Given the description of an element on the screen output the (x, y) to click on. 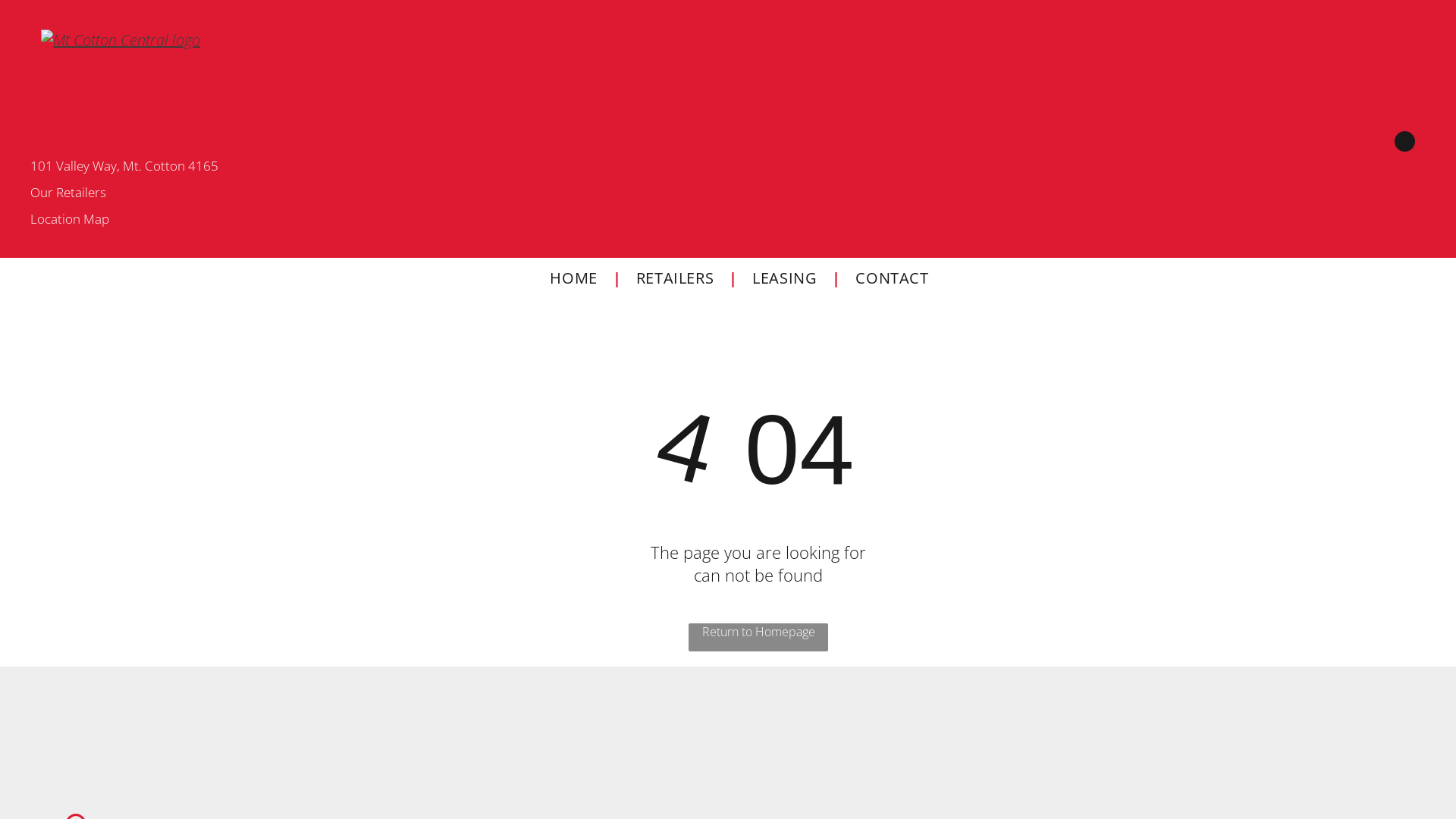
HOME Element type: text (572, 277)
101 Valley Way, Mt. Cotton 4165 Element type: text (124, 165)
Return to Homepage Element type: text (758, 637)
RETAILERS Element type: text (674, 277)
Our Retailers Element type: text (68, 191)
Location Map Element type: text (69, 218)
LEASING Element type: text (784, 277)
CONTACT Element type: text (891, 277)
